Given the description of an element on the screen output the (x, y) to click on. 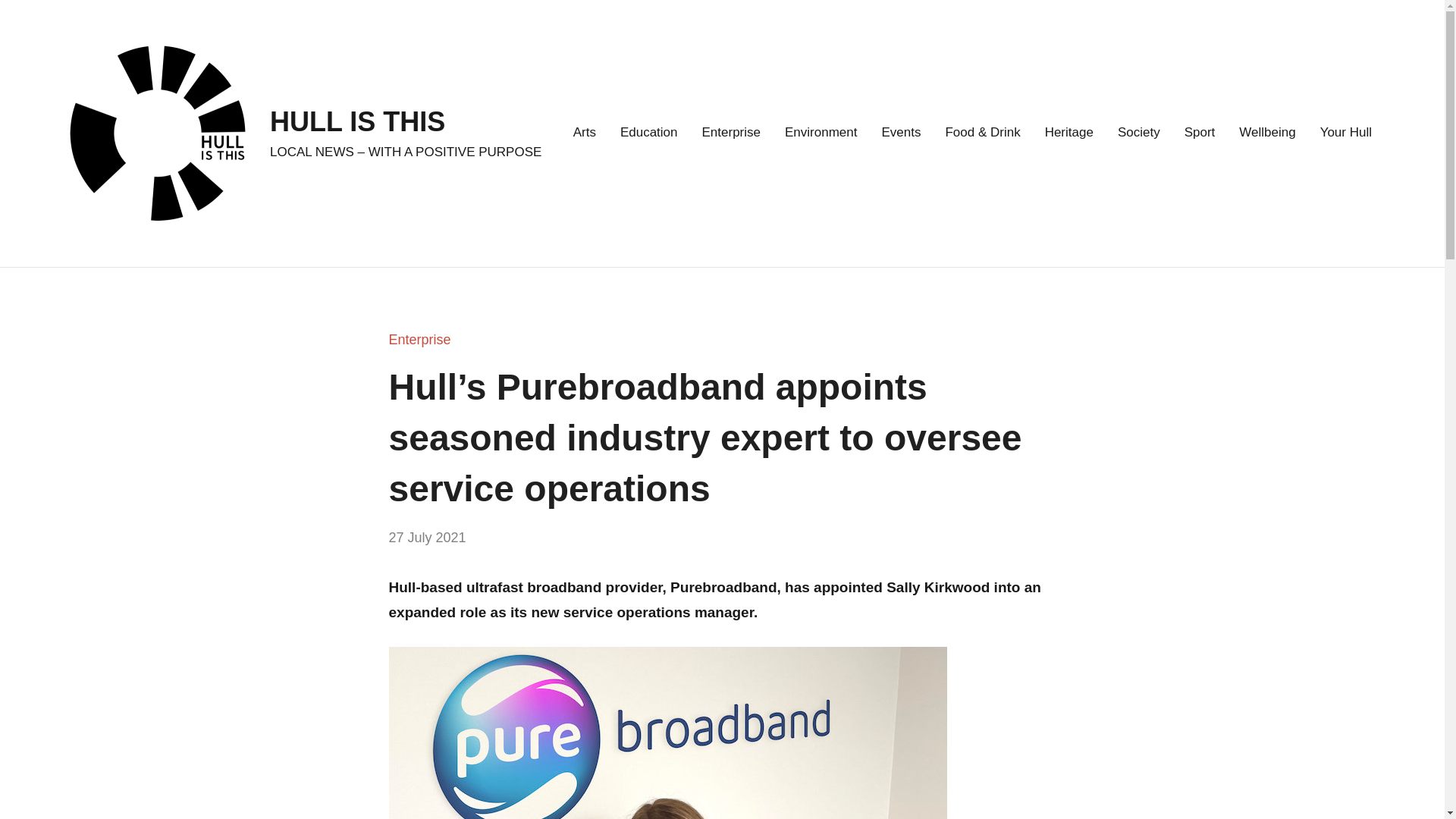
Environment (820, 132)
Enterprise (418, 339)
Enterprise (730, 132)
Wellbeing (1267, 132)
Events (900, 132)
Education (649, 132)
27 July 2021 (426, 537)
Society (1139, 132)
Sport (1200, 132)
Heritage (1069, 132)
